Given the description of an element on the screen output the (x, y) to click on. 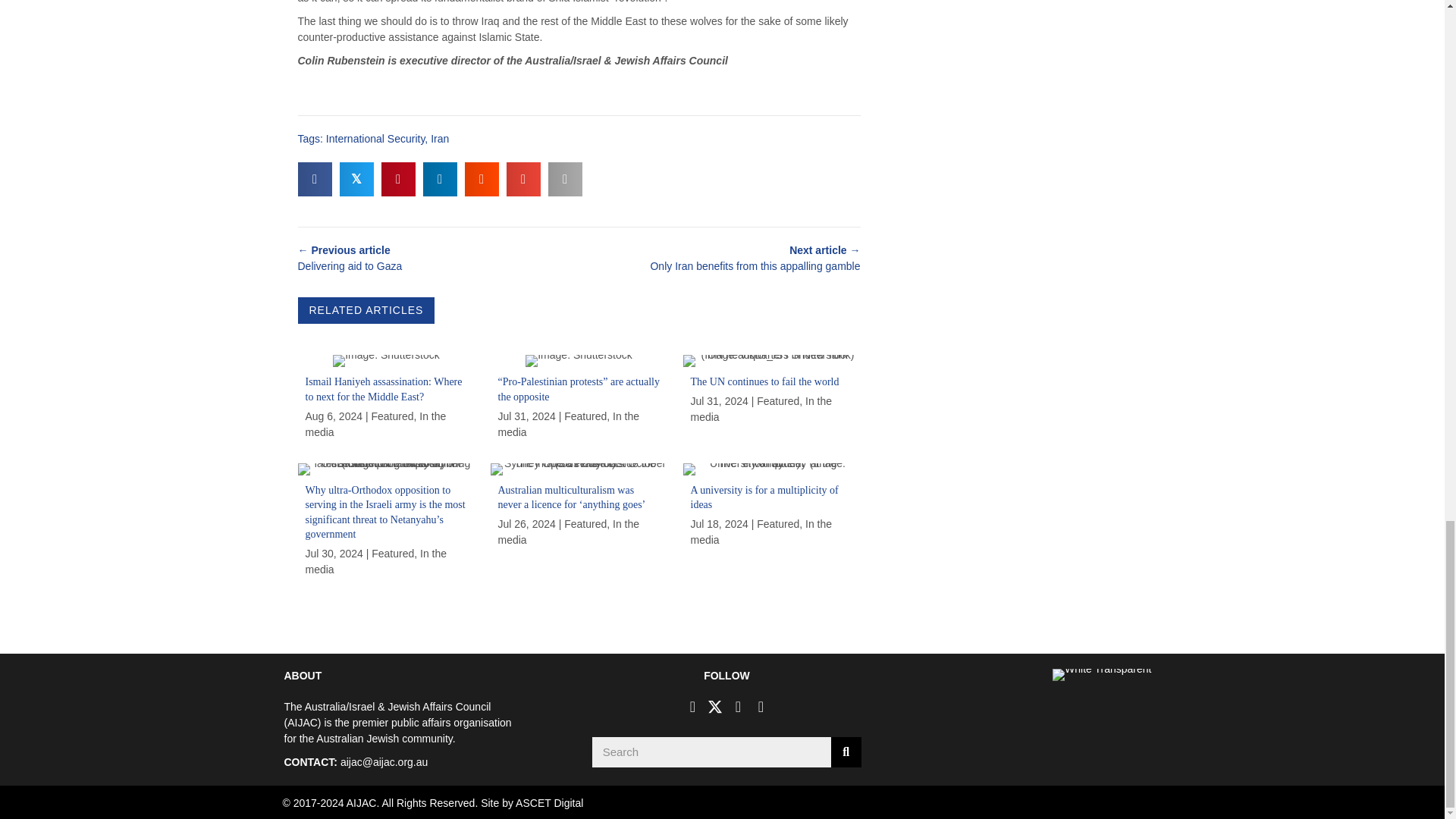
A,Demonstator,Is,Seen,Holding,A,Sign,That,Reads,"from (578, 360)
New,York,,Usa, ,December,1,,2021:,Un,Emblem,,Logo (771, 360)
The UN continues to fail the world (771, 400)
Chess,Made,From,Flags,Of,Israel,State,And,Hezbollah,,Hamas, (386, 360)
